Given the description of an element on the screen output the (x, y) to click on. 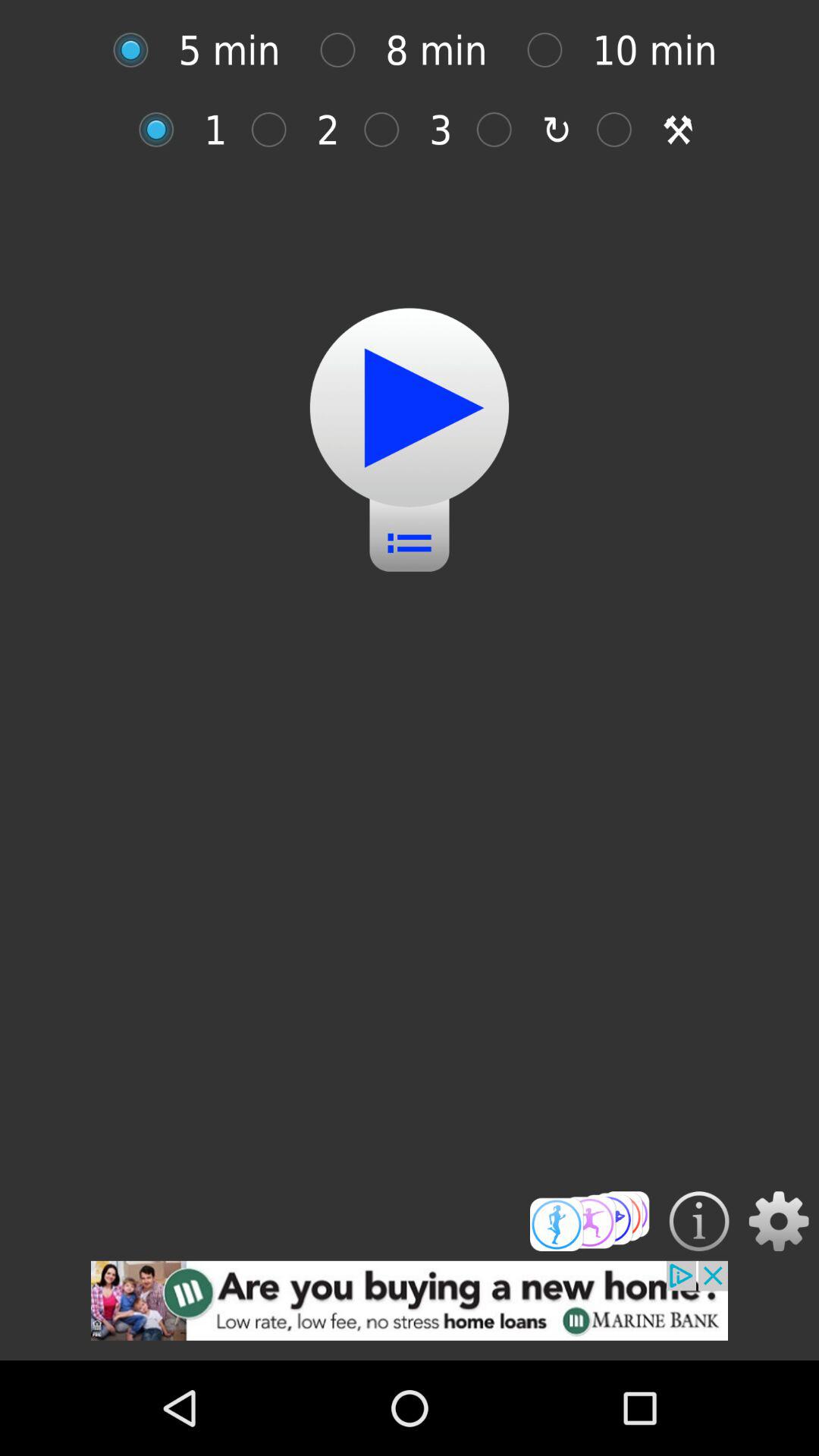
info option (699, 1221)
